Given the description of an element on the screen output the (x, y) to click on. 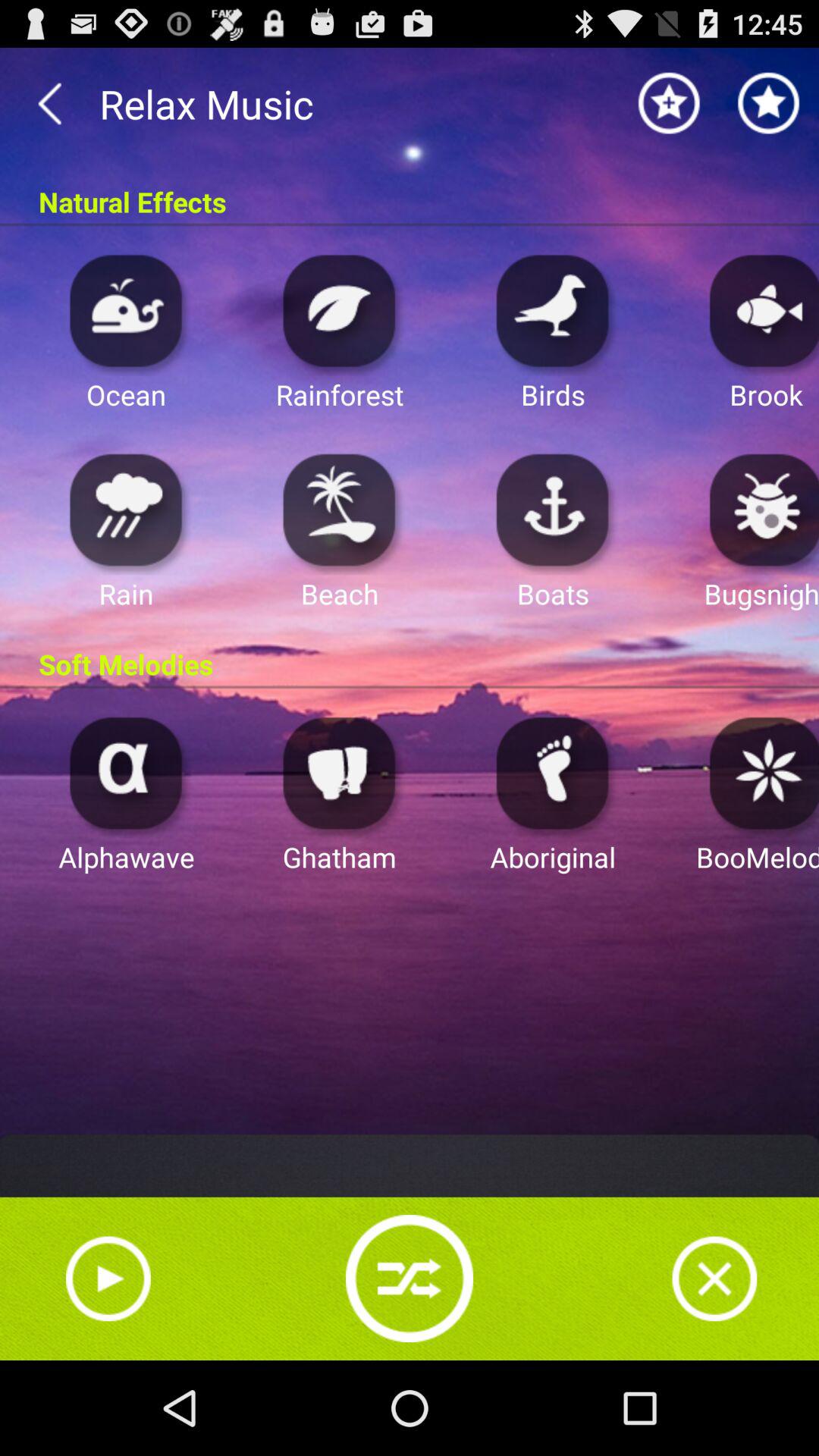
plays the boat relax music (552, 509)
